Given the description of an element on the screen output the (x, y) to click on. 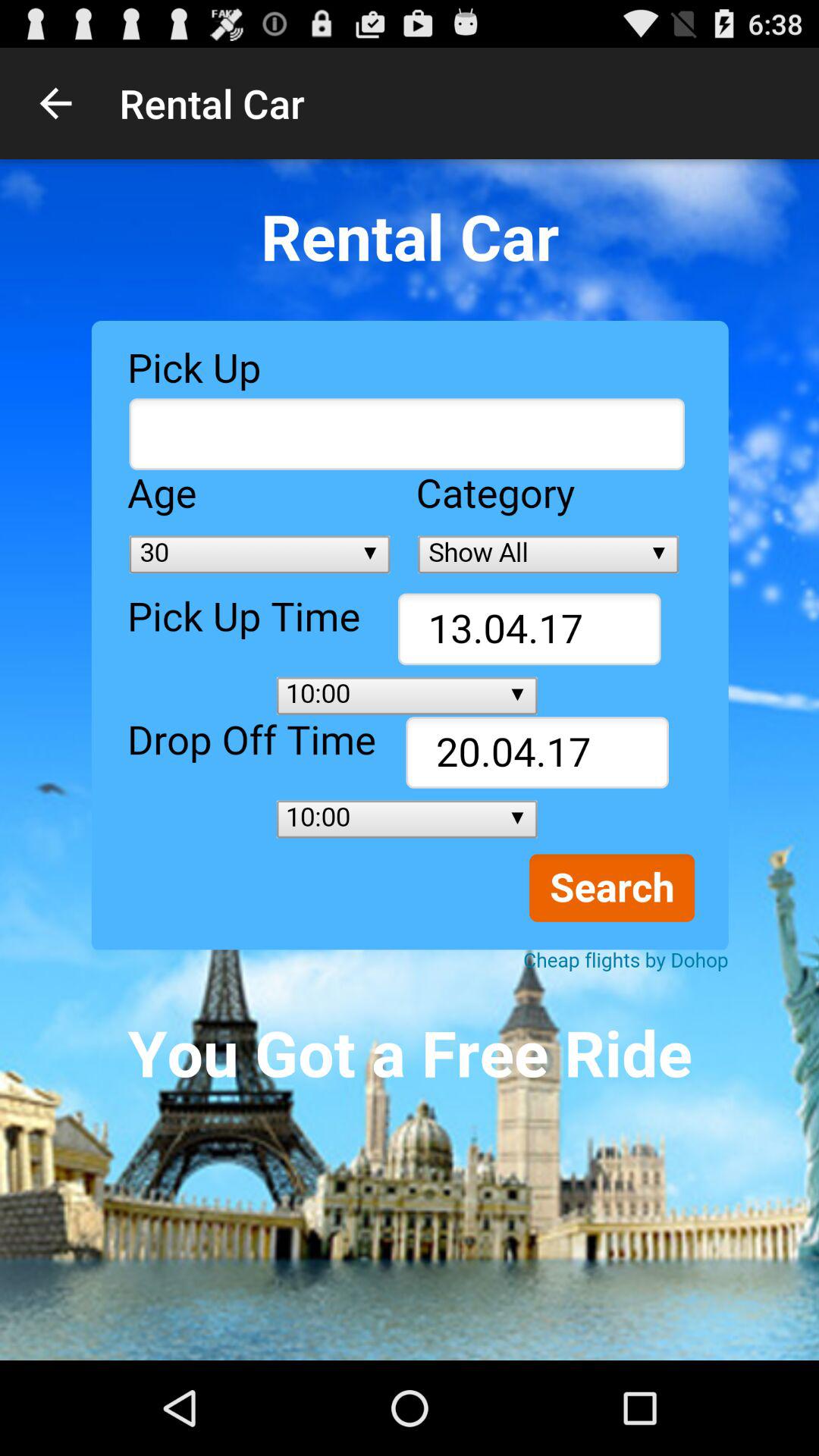
seeing in the parargraph (409, 759)
